Given the description of an element on the screen output the (x, y) to click on. 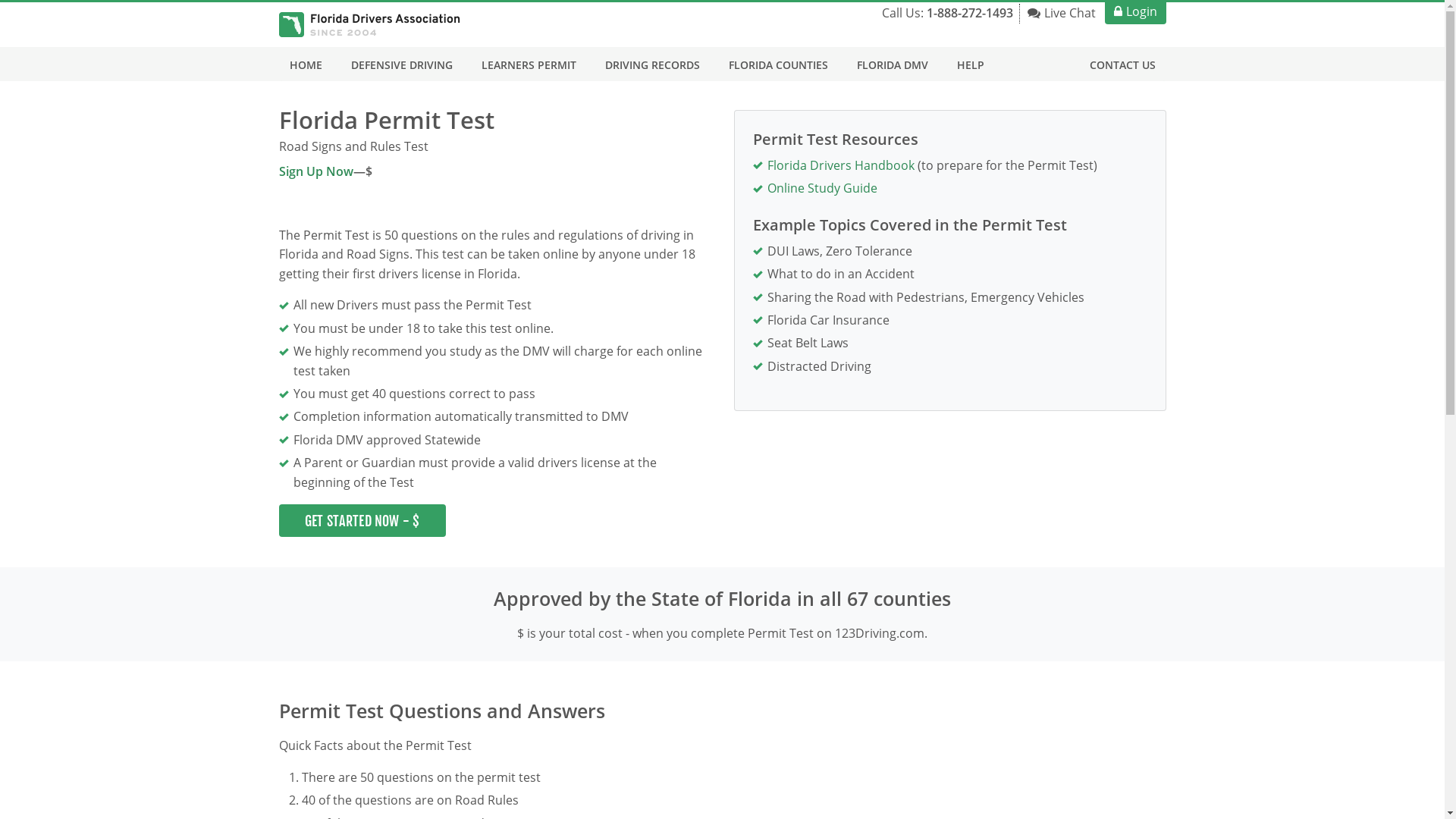
FLORIDA COUNTIES Element type: text (777, 64)
Login Element type: text (1134, 13)
HELP Element type: text (970, 64)
FLORIDA DMV Element type: text (892, 64)
DEFENSIVE DRIVING Element type: text (400, 64)
Live Chat Element type: text (1060, 13)
Florida Drivers Handbook Element type: text (840, 164)
Sign Up Now Element type: text (316, 171)
Online Study Guide Element type: text (822, 187)
HOME Element type: text (305, 64)
GET STARTED NOW - $ Element type: text (362, 520)
CONTACT US Element type: text (1121, 64)
LEARNERS PERMIT Element type: text (528, 64)
DRIVING RECORDS Element type: text (652, 64)
1-888-272-1493 Element type: text (969, 12)
